Given the description of an element on the screen output the (x, y) to click on. 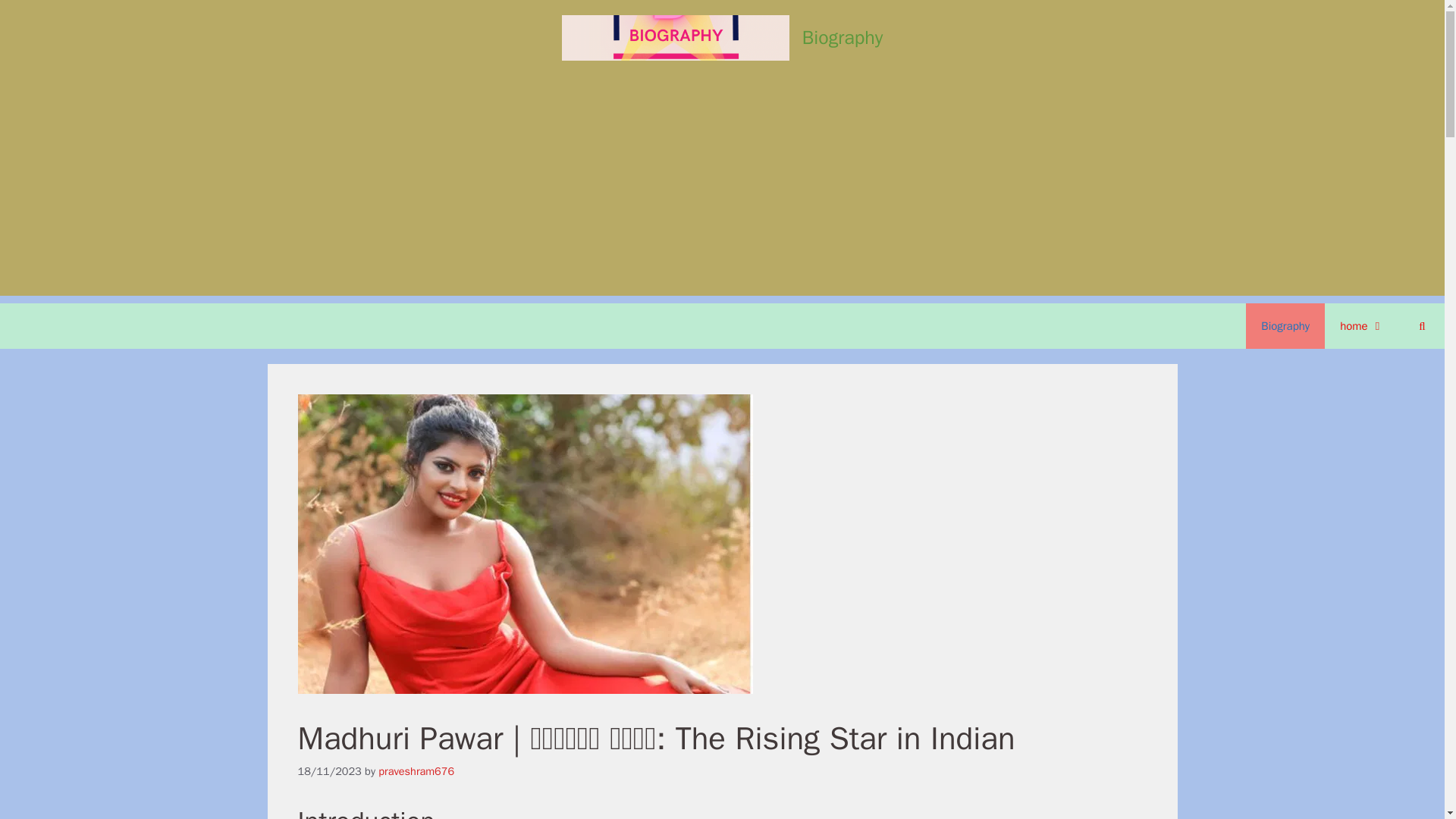
Biography (842, 37)
praveshram676 (416, 771)
Biography (1285, 325)
home (1361, 325)
View all posts by praveshram676 (416, 771)
